Given the description of an element on the screen output the (x, y) to click on. 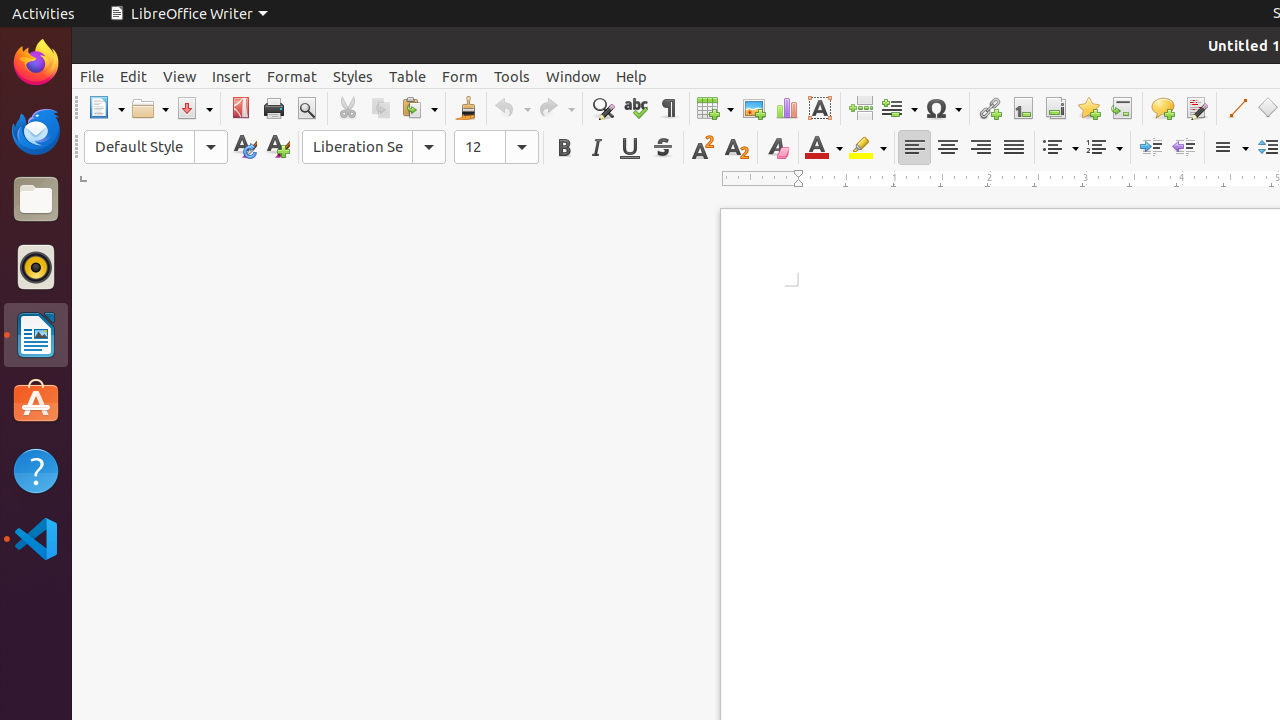
Subscript Element type: toggle-button (736, 147)
Text Box Element type: push-button (819, 108)
Clear Element type: push-button (777, 147)
Cross-reference Element type: push-button (1121, 108)
Help Element type: push-button (36, 470)
